Given the description of an element on the screen output the (x, y) to click on. 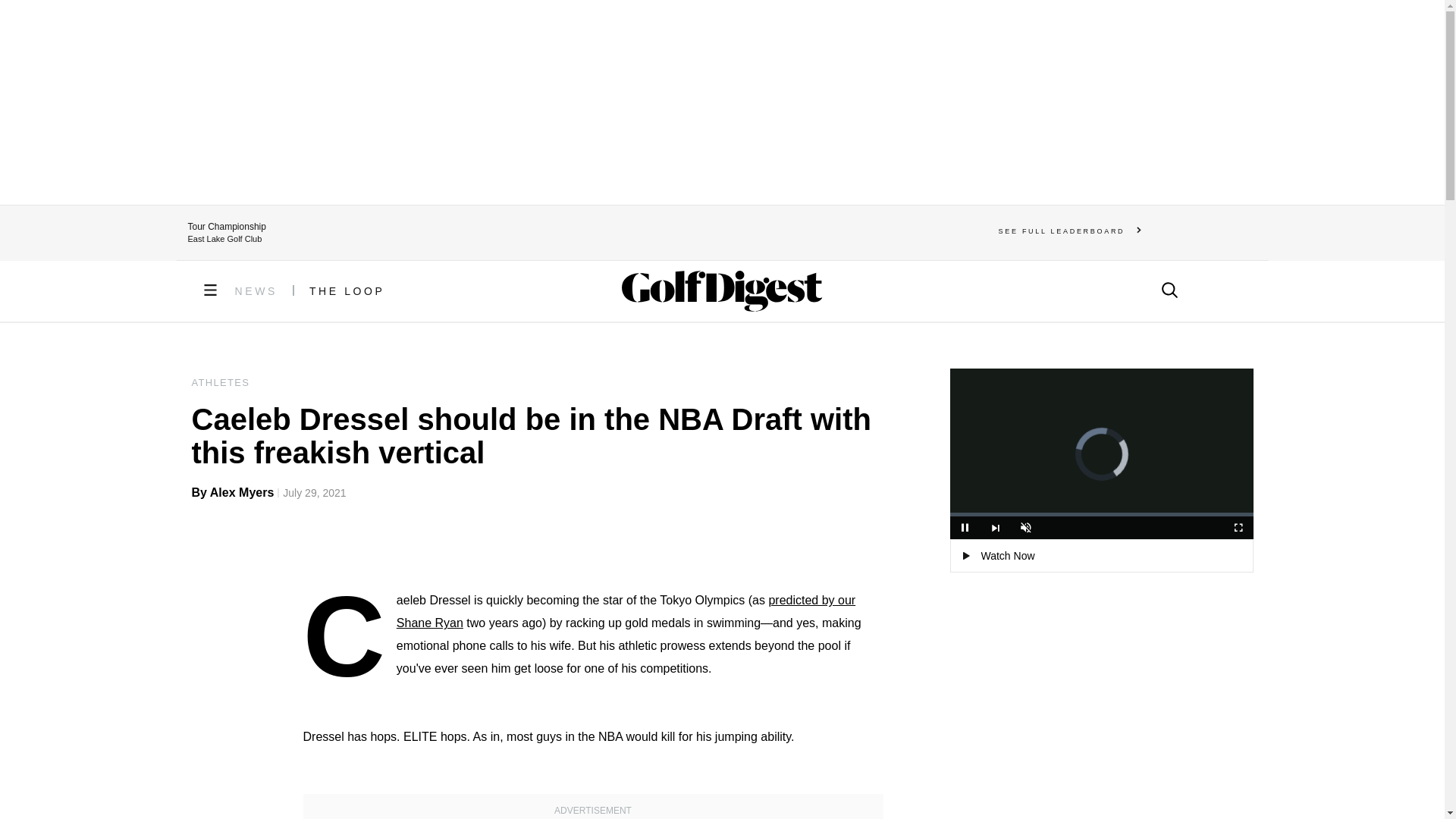
THE LOOP (346, 291)
SEE FULL LEADERBOARD (1069, 230)
NEWS (256, 291)
